Given the description of an element on the screen output the (x, y) to click on. 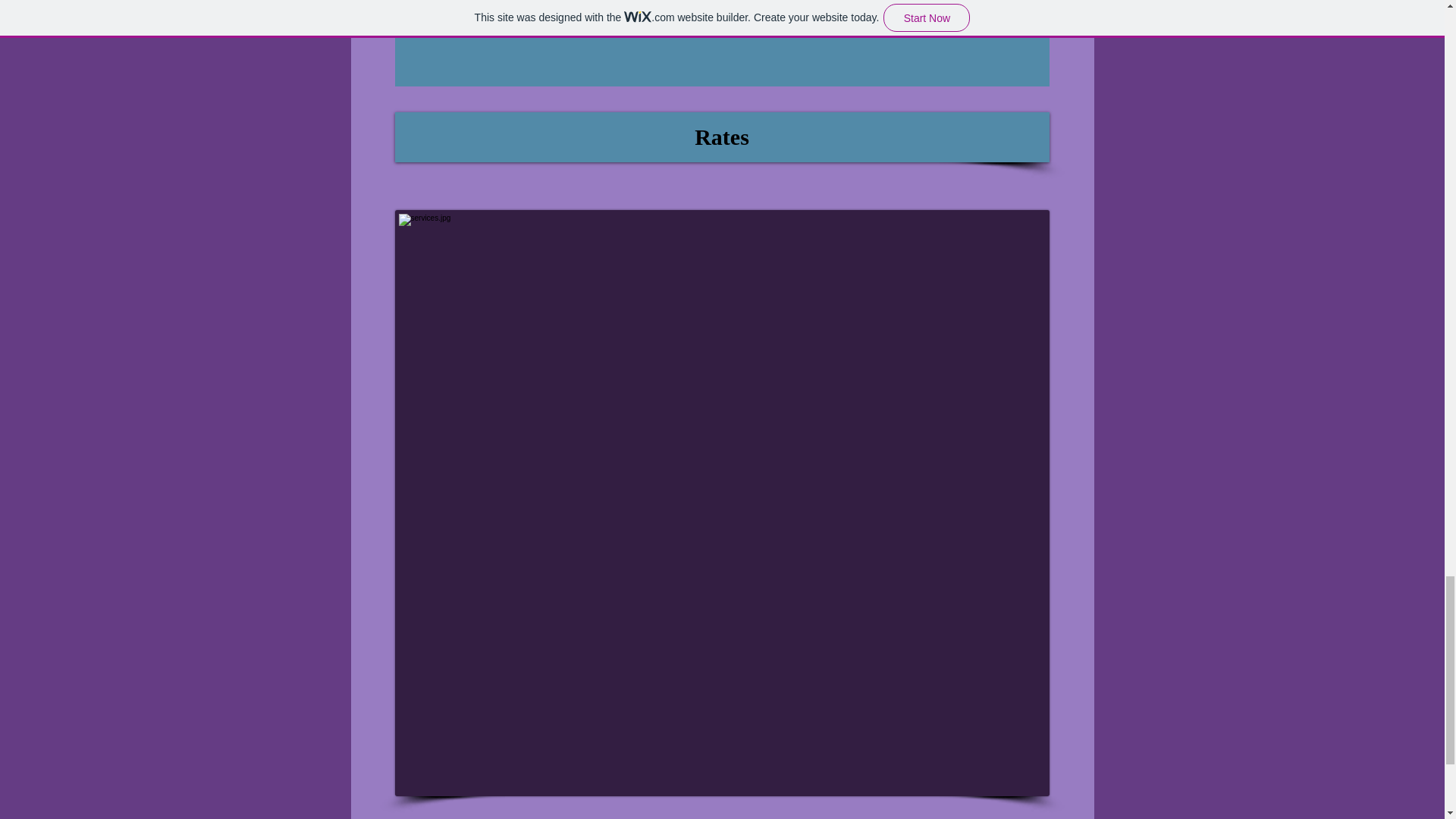
Rates (721, 137)
